Given the description of an element on the screen output the (x, y) to click on. 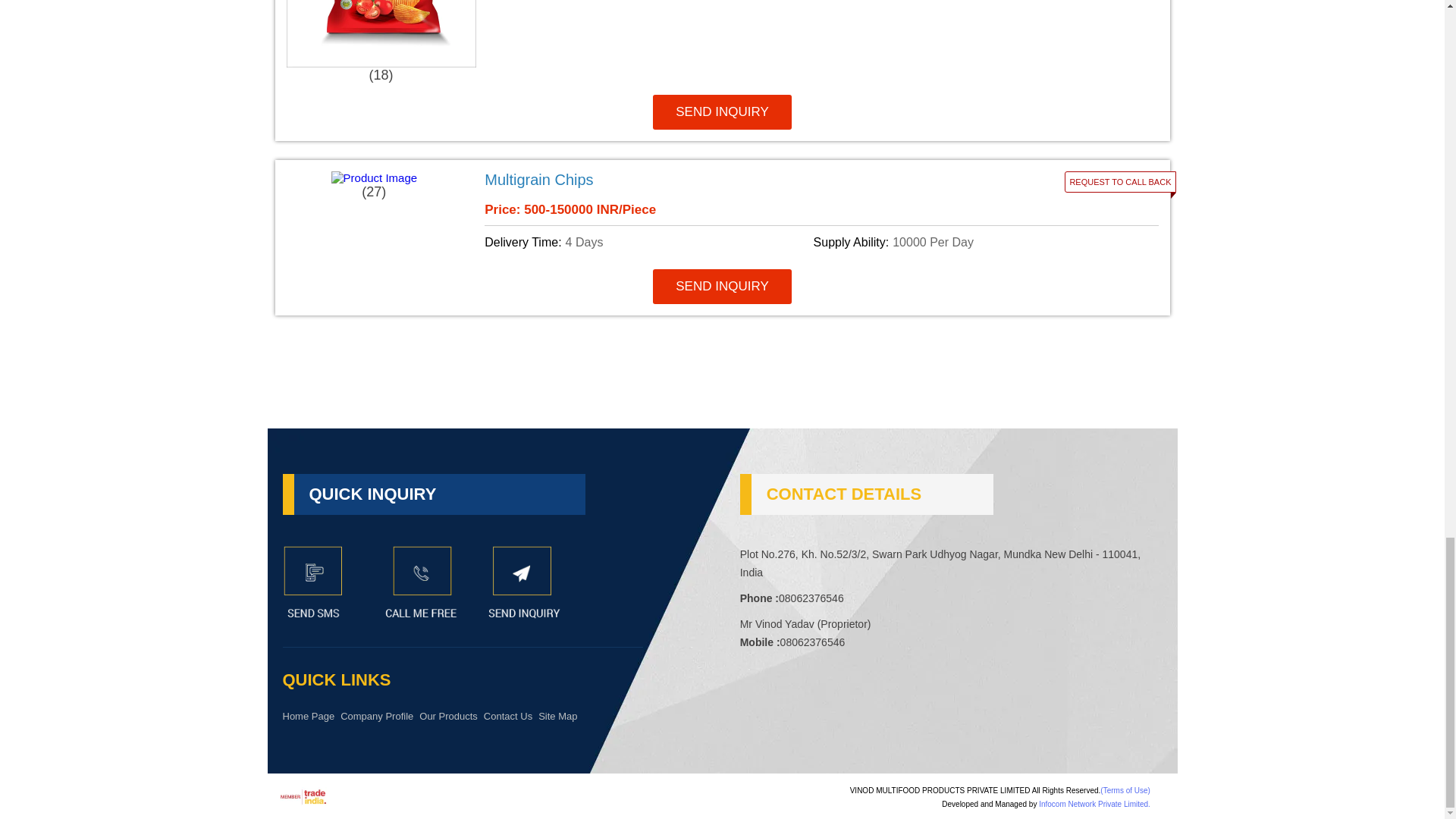
Multigrain Chips (706, 180)
Delivery Time: 4 Days (646, 242)
Supply Ability: 10000 Per Day (975, 242)
